Given the description of an element on the screen output the (x, y) to click on. 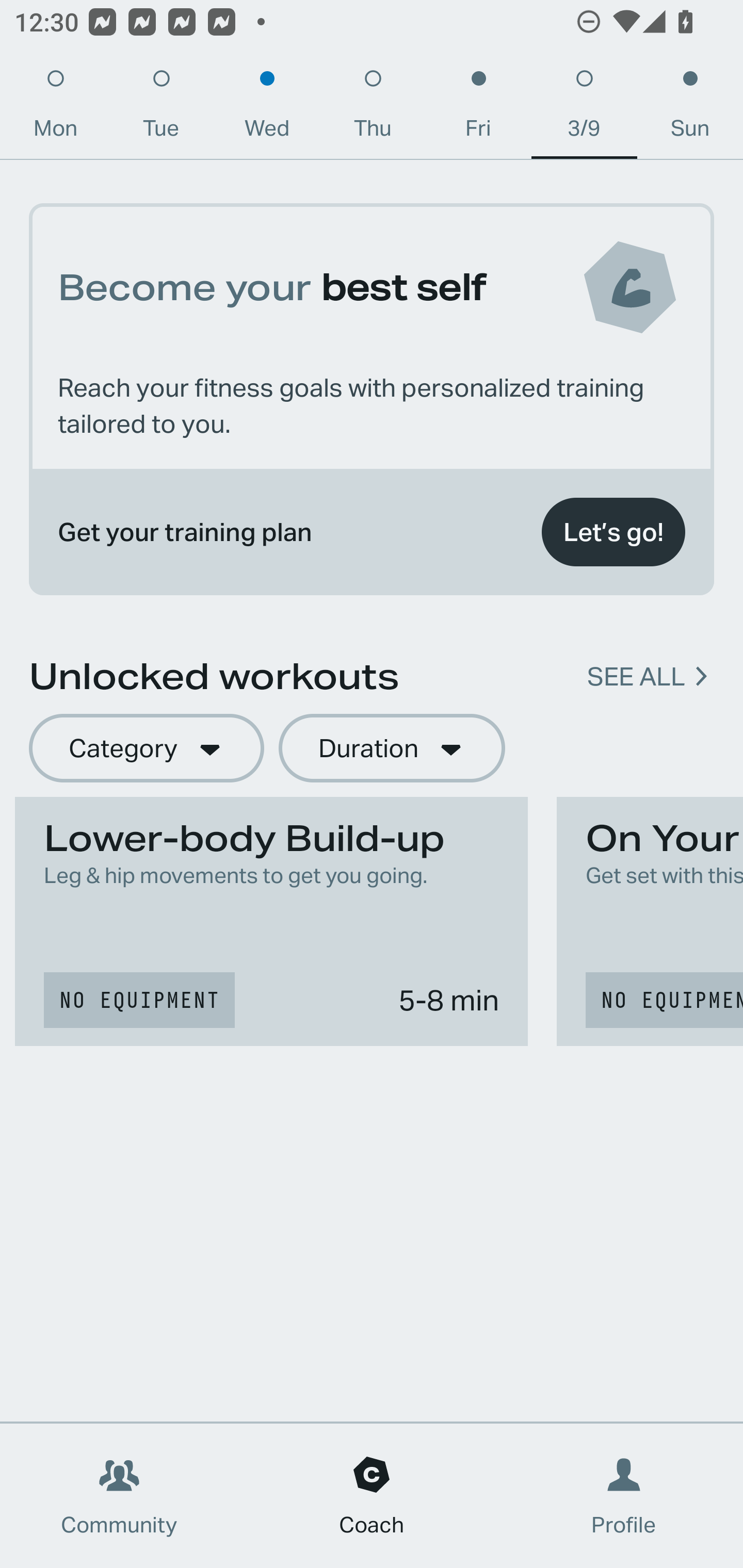
Mon (55, 108)
Tue (160, 108)
Wed (266, 108)
Thu (372, 108)
Fri (478, 108)
3/9 (584, 108)
Sun (690, 108)
Let’s go! (613, 532)
SEE ALL (635, 676)
Category (146, 748)
Duration (391, 748)
Community (119, 1495)
Profile (624, 1495)
